Given the description of an element on the screen output the (x, y) to click on. 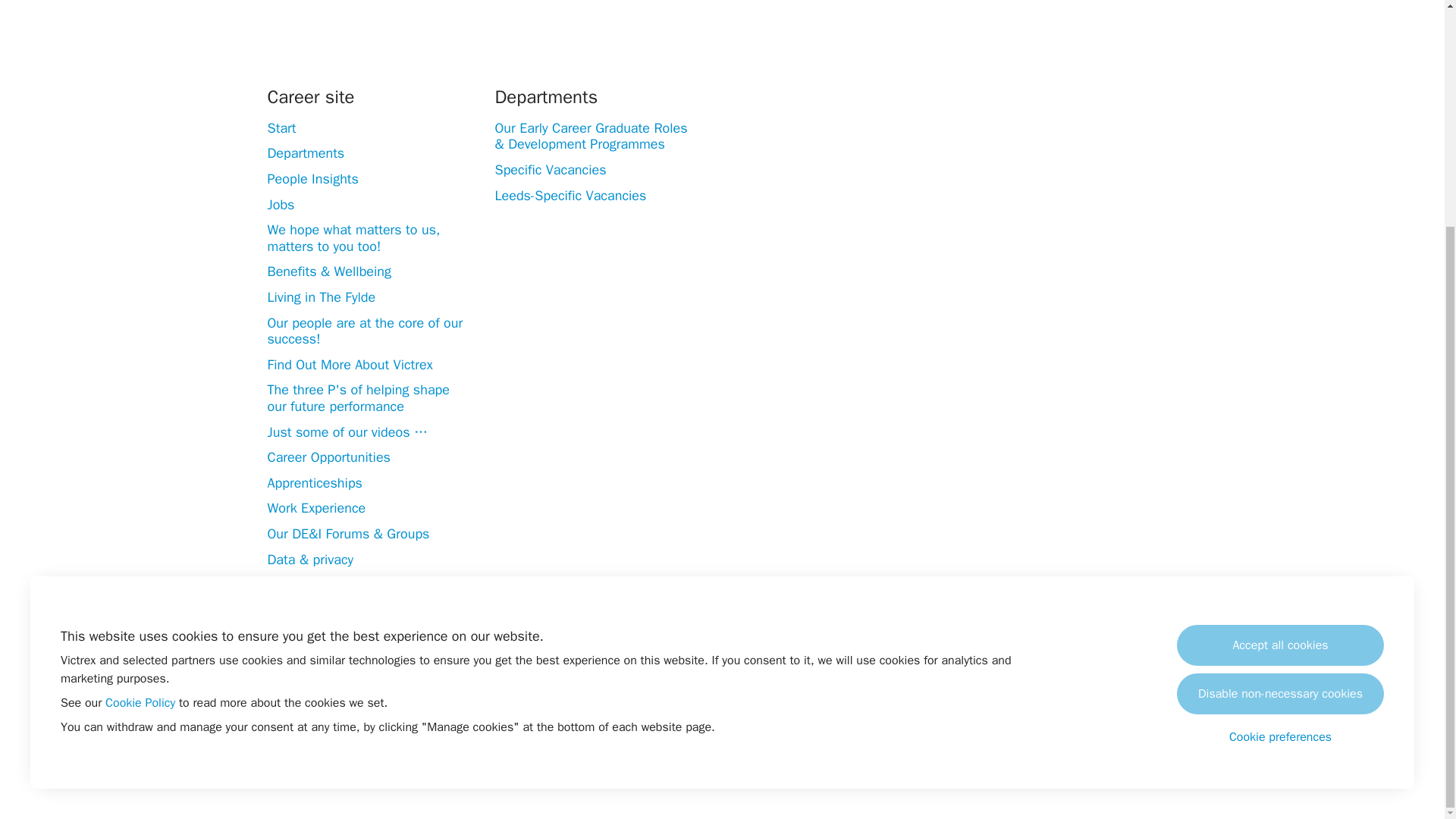
Cookie Policy (139, 398)
Departments (304, 152)
Our people are at the core of our success! (364, 331)
Living in The Fylde (320, 296)
We hope what matters to us, matters to you too! (352, 237)
Find Out More About Victrex (349, 363)
People Insights (312, 178)
Jobs (280, 204)
Disable non-necessary cookies (1280, 389)
Accept all cookies (1280, 341)
Cookie preferences (1280, 432)
Start (280, 128)
